Given the description of an element on the screen output the (x, y) to click on. 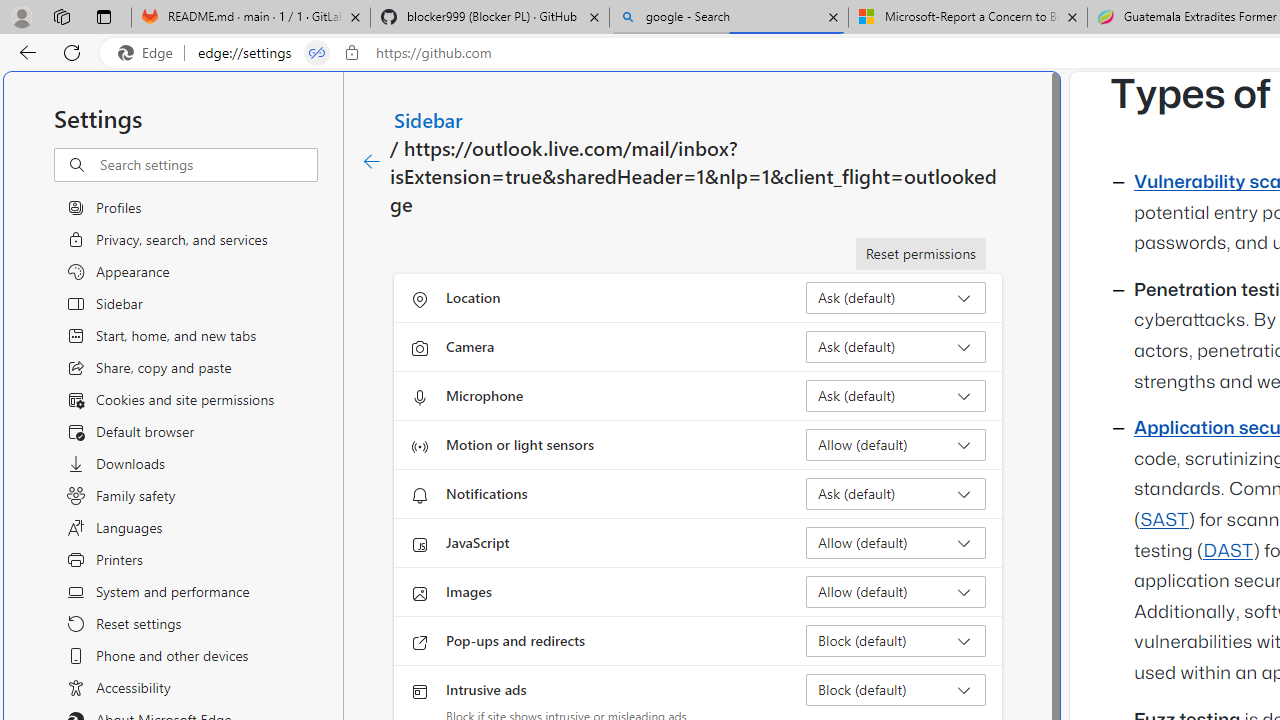
Class: c01182 (371, 161)
DAST (1228, 551)
Motion or light sensors Allow (default) (895, 444)
Search settings (207, 165)
Microphone Ask (default) (895, 395)
Pop-ups and redirects Block (default) (895, 640)
Intrusive ads Block (default) (895, 689)
